Given the description of an element on the screen output the (x, y) to click on. 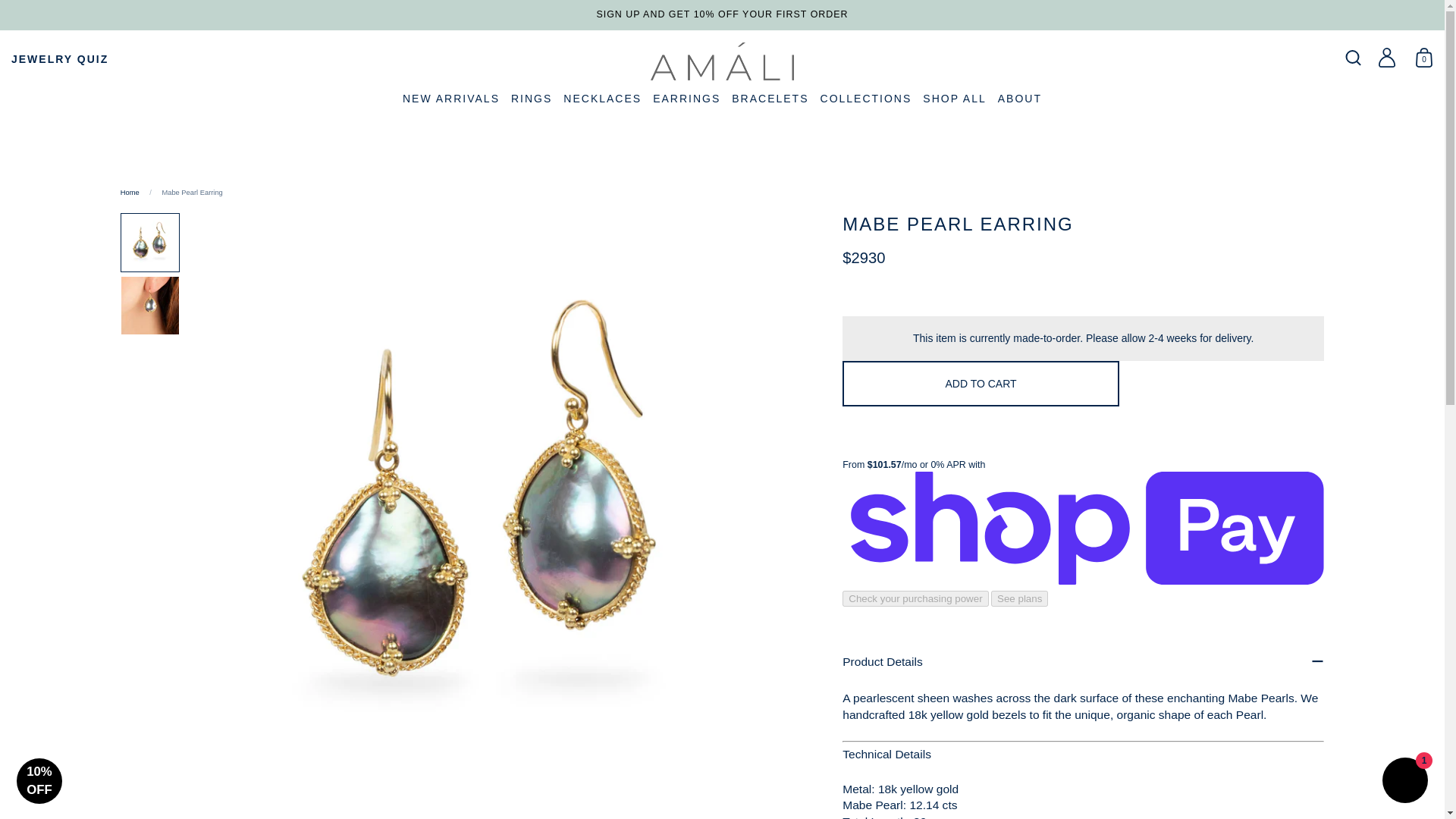
RINGS (531, 99)
NEW ARRIVALS (451, 99)
ABOUT (1019, 99)
0 (1424, 59)
SHOP ALL (954, 99)
JEWELRY QUIZ (59, 59)
NECKLACES (602, 99)
EARRINGS (686, 99)
COLLECTIONS (866, 99)
